Given the description of an element on the screen output the (x, y) to click on. 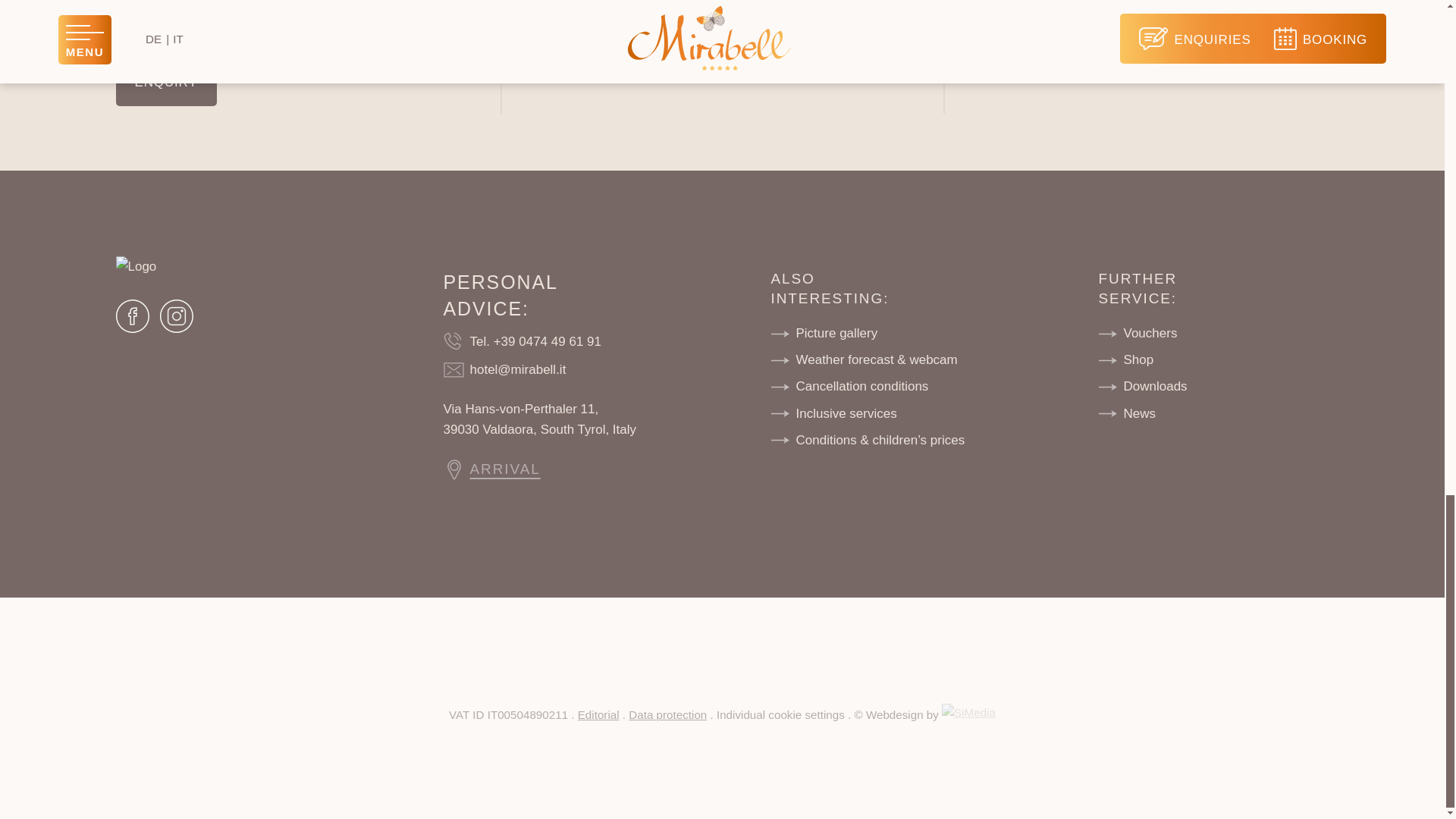
0 (321, 25)
